Given the description of an element on the screen output the (x, y) to click on. 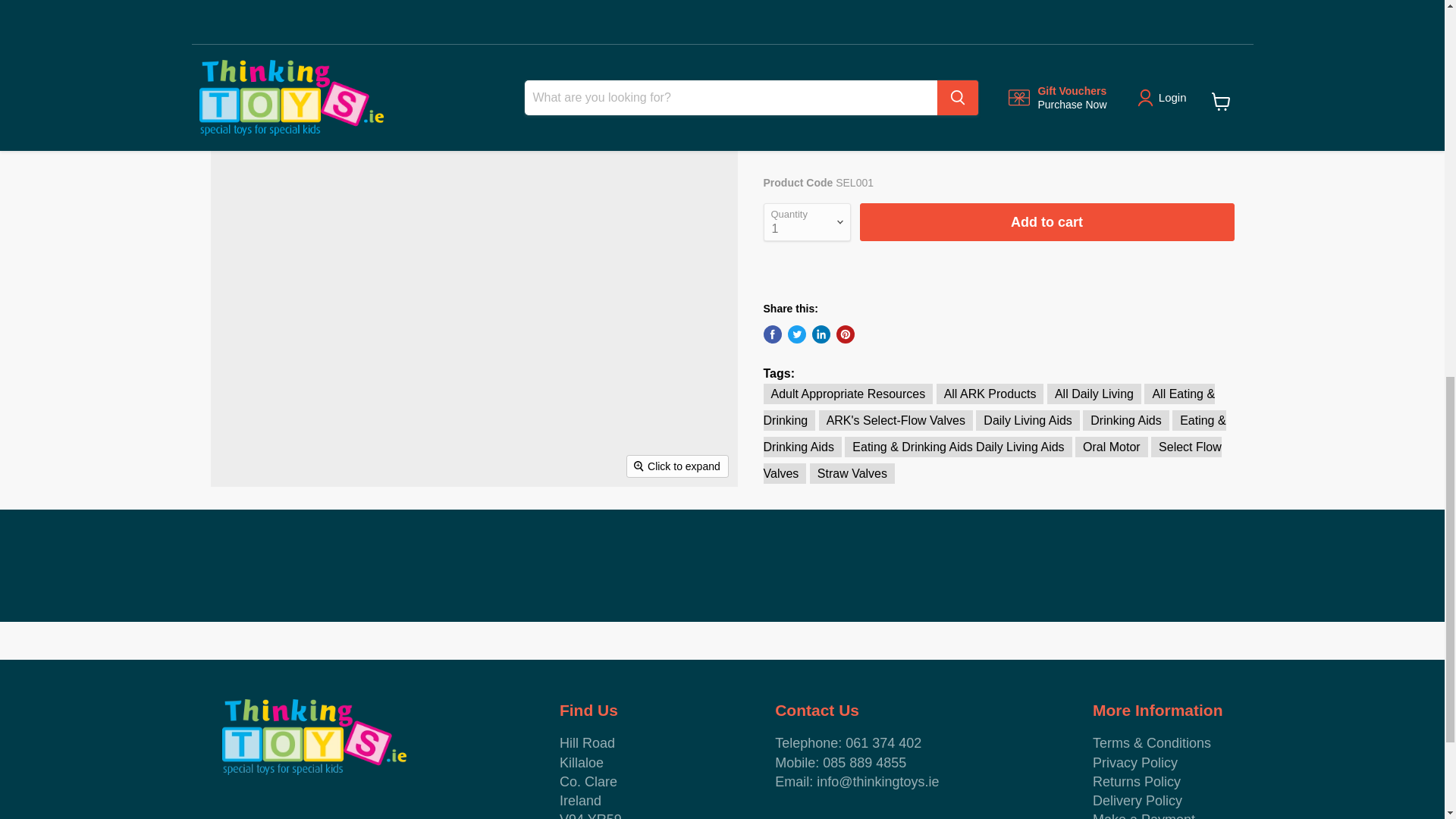
085 889 4855 (863, 762)
061 374 402 (883, 743)
Tweet on Twitter (796, 334)
Share on LinkedIn (819, 334)
Share on Facebook (771, 334)
Click to expand (677, 465)
Pin on Pinterest (844, 334)
Add to cart (1047, 222)
Privacy Policy (1135, 762)
